Given the description of an element on the screen output the (x, y) to click on. 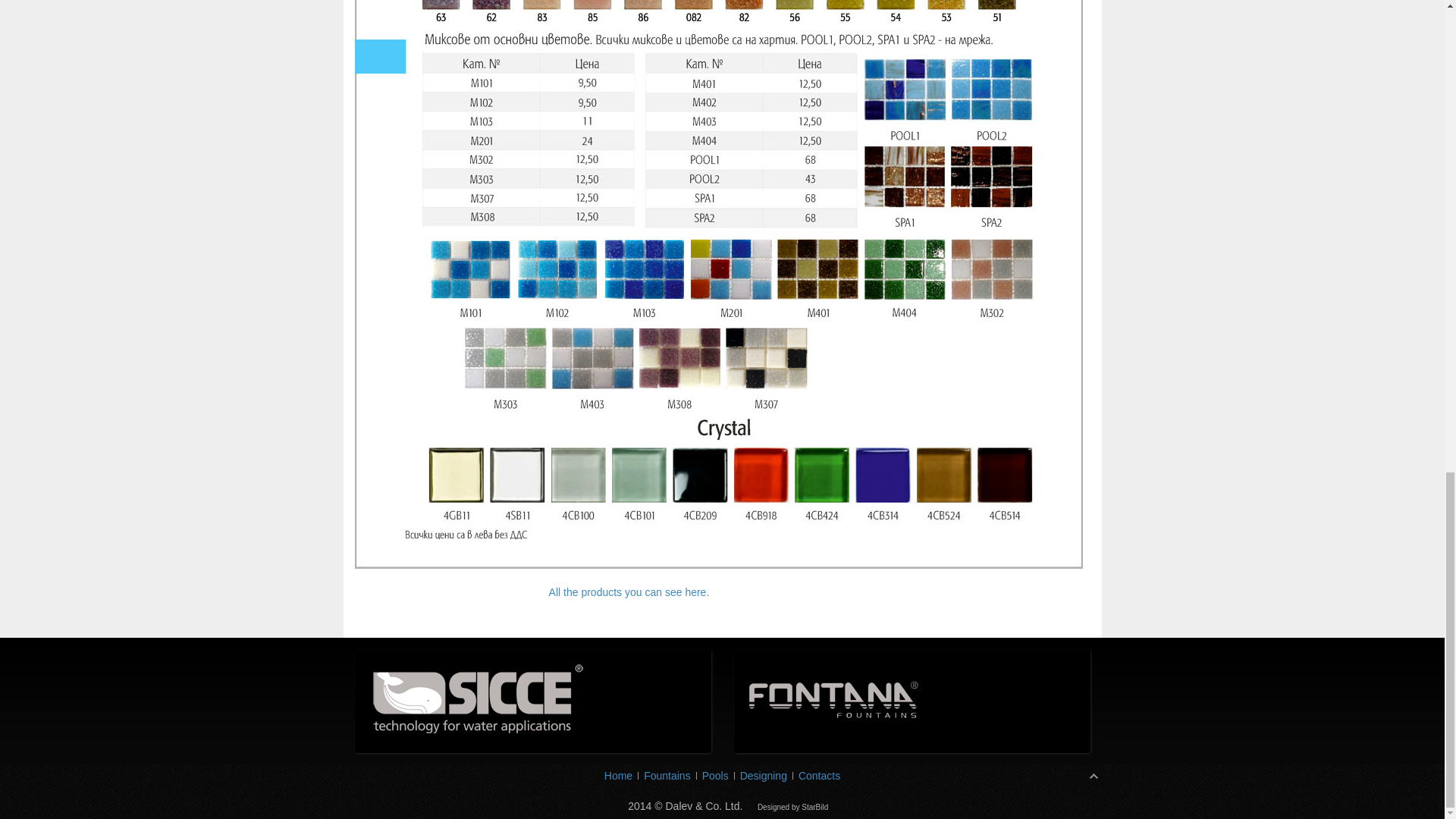
All the products you can see here. (629, 592)
